Given the description of an element on the screen output the (x, y) to click on. 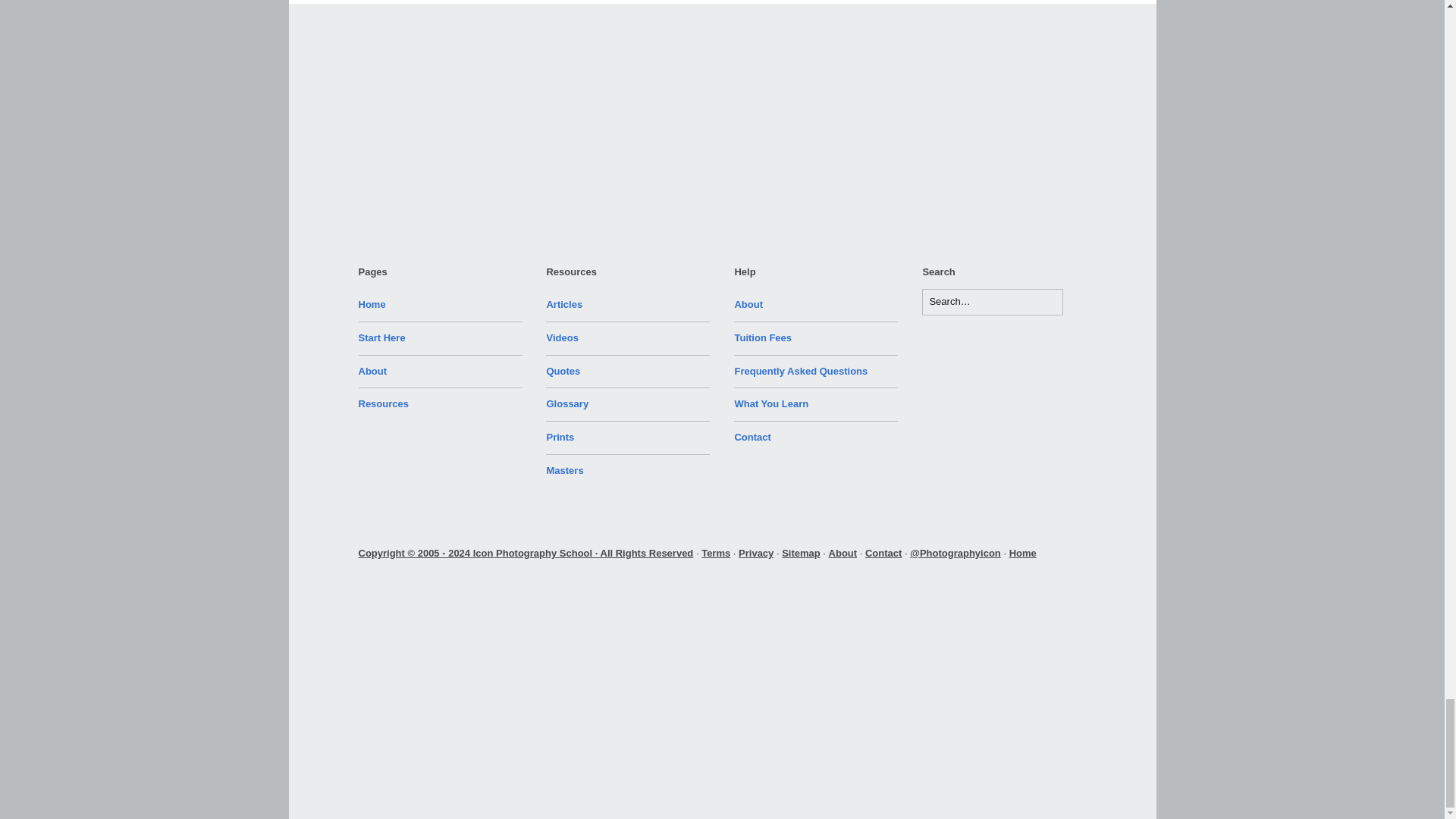
Photography Articles (564, 304)
Photography Videos (562, 337)
Photography Glossary (567, 403)
Photography Prints (559, 437)
Photography Quotes (562, 370)
